Given the description of an element on the screen output the (x, y) to click on. 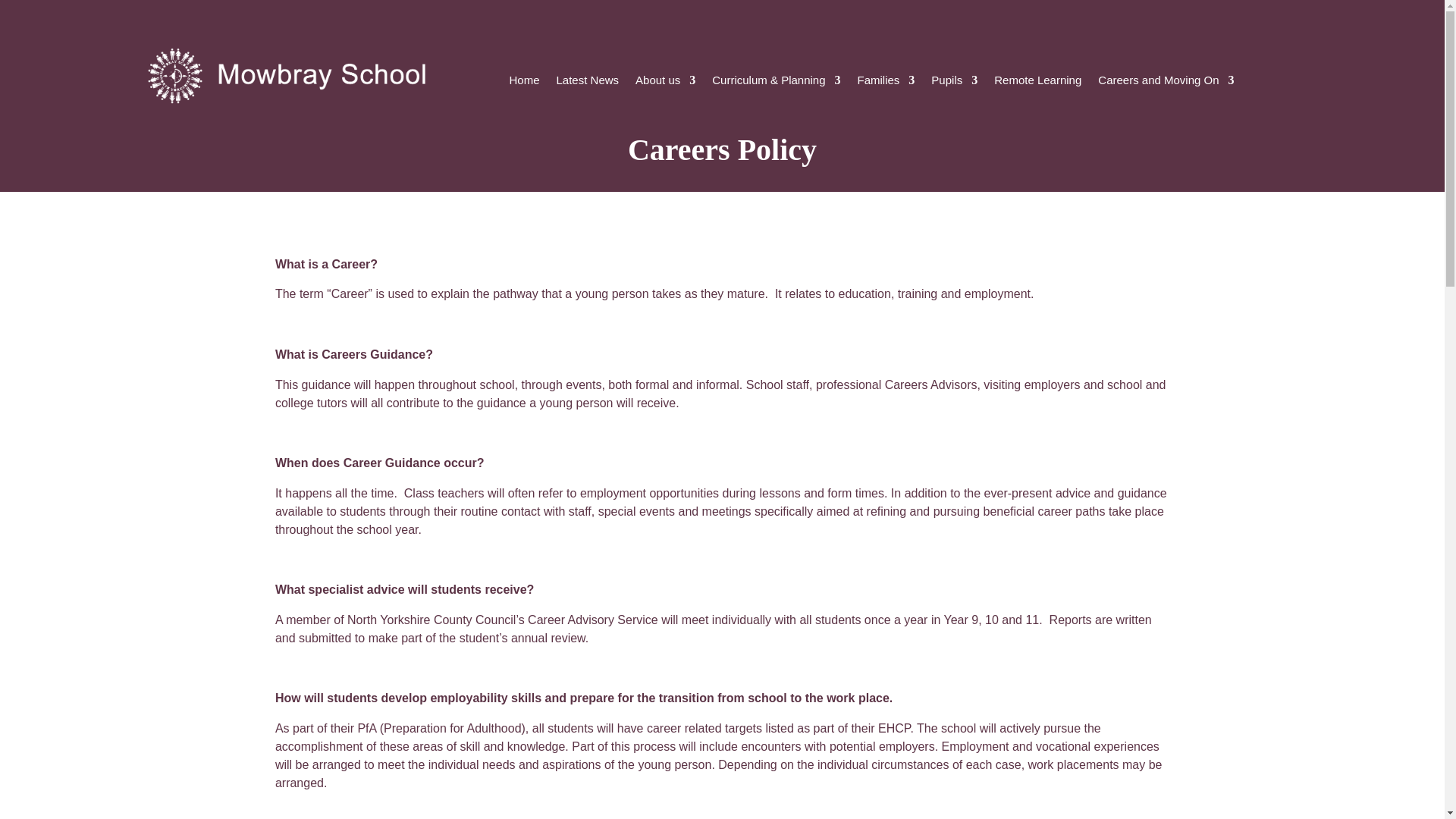
mowbray-school-logo-lay-trans (288, 74)
